Given the description of an element on the screen output the (x, y) to click on. 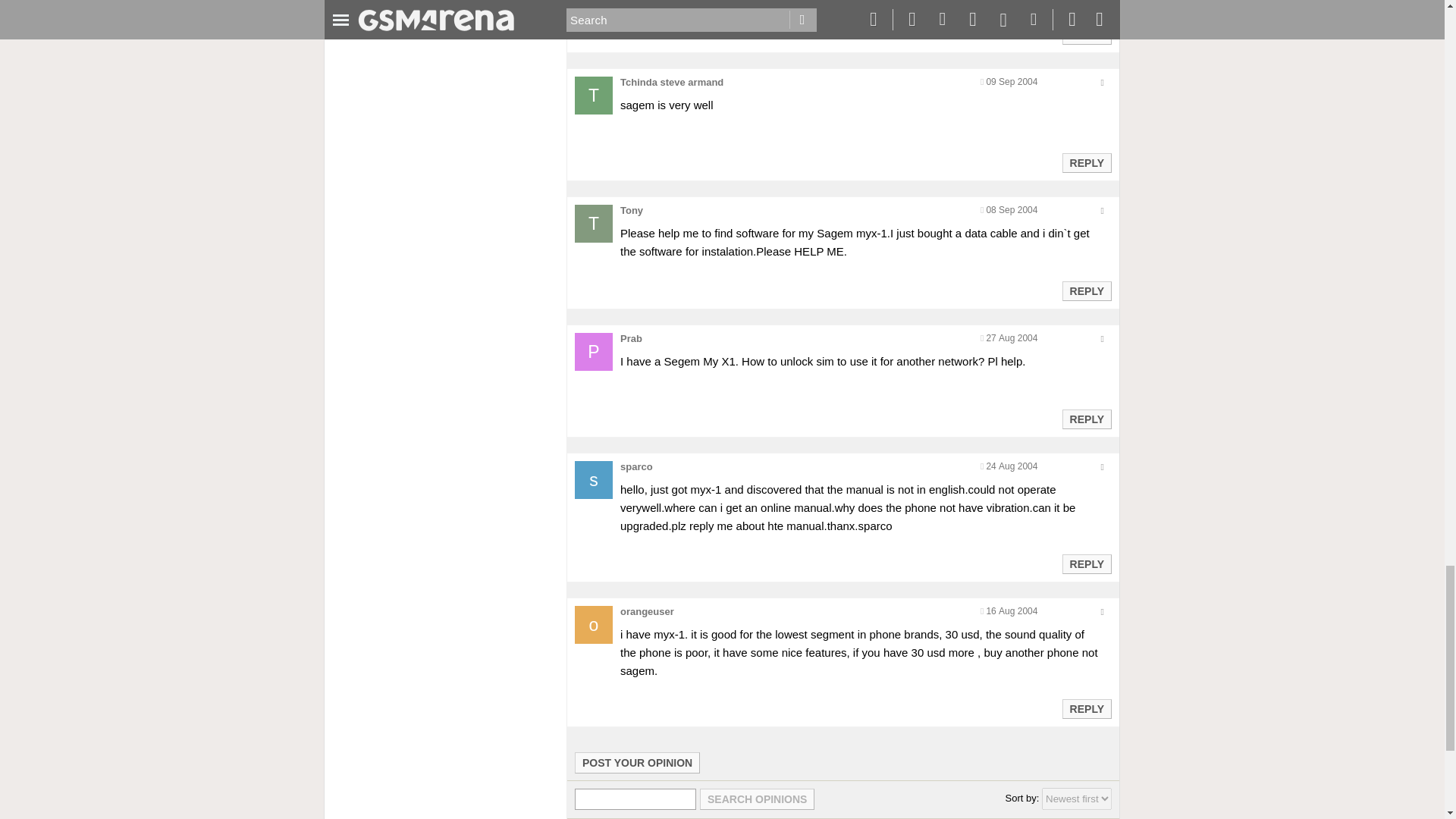
Search opinions (756, 798)
